Given the description of an element on the screen output the (x, y) to click on. 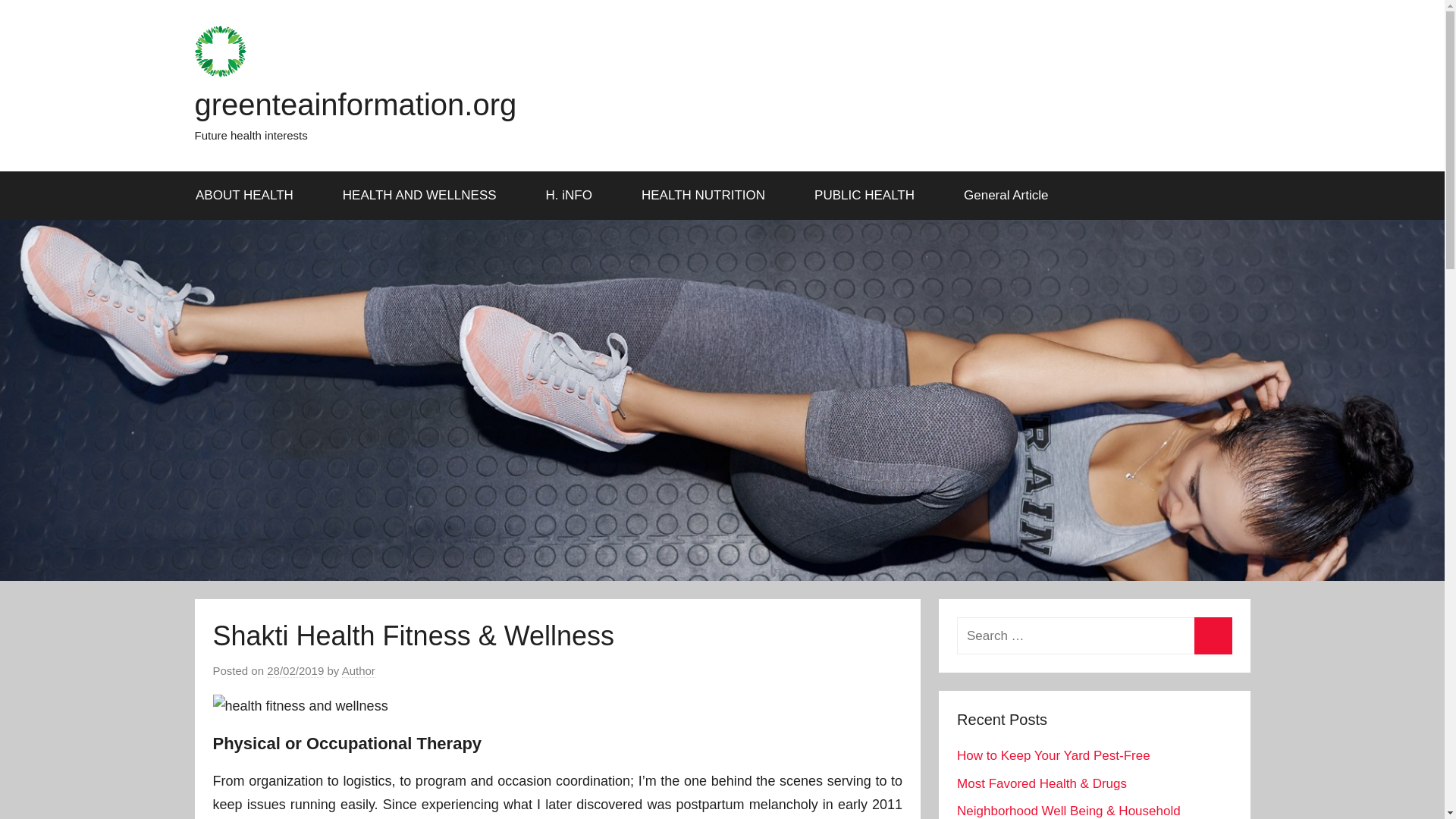
General Article (1006, 195)
greenteainformation.org (354, 104)
View all posts by Author (358, 671)
Author (358, 671)
H. iNFO (573, 195)
PUBLIC HEALTH (869, 195)
Search for: (1093, 635)
ABOUT HEALTH (249, 195)
HEALTH AND WELLNESS (424, 195)
HEALTH NUTRITION (707, 195)
